Given the description of an element on the screen output the (x, y) to click on. 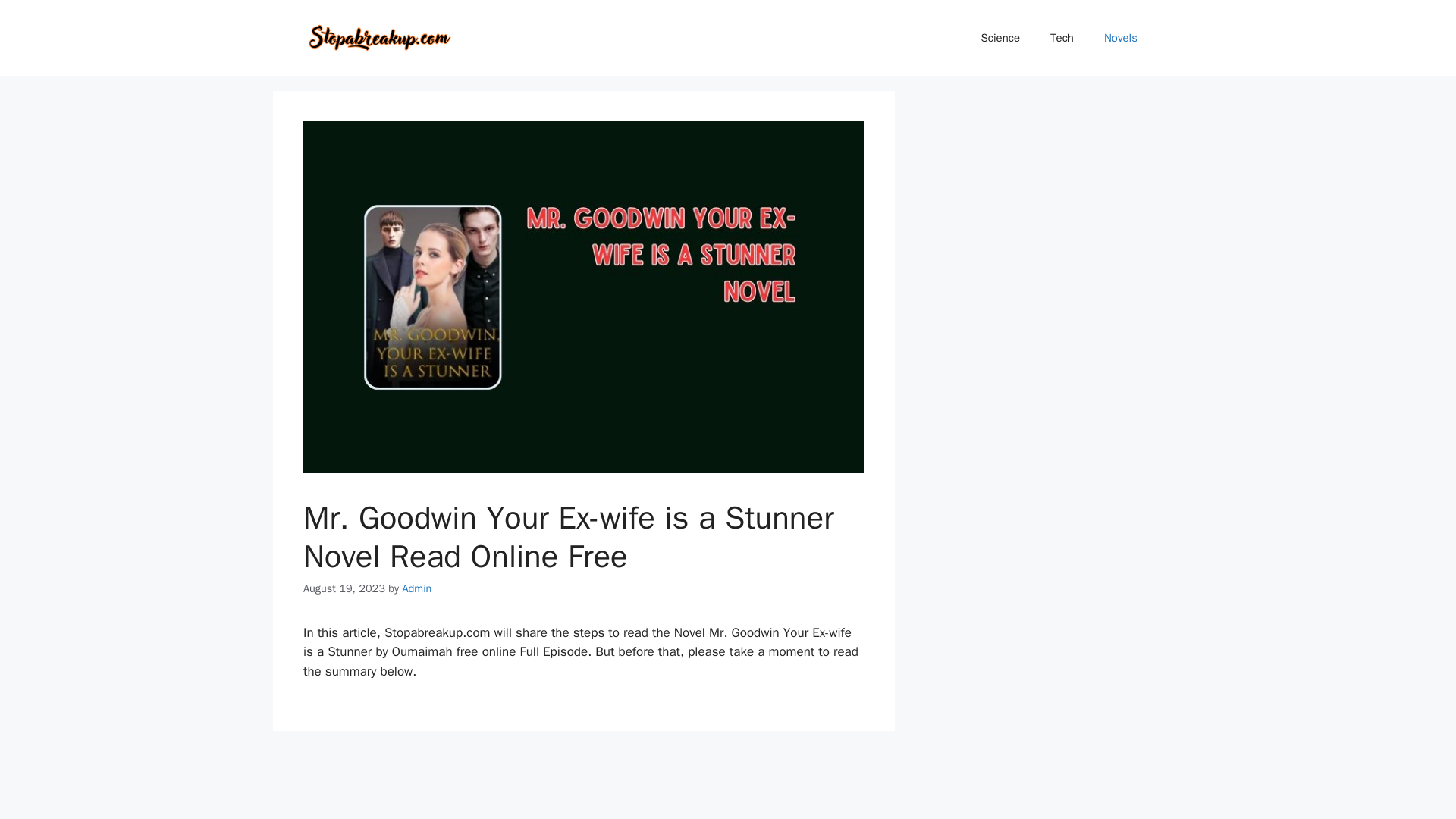
Tech (1062, 37)
Science (1000, 37)
Novels (1121, 37)
Admin (415, 588)
View all posts by Admin (415, 588)
